Given the description of an element on the screen output the (x, y) to click on. 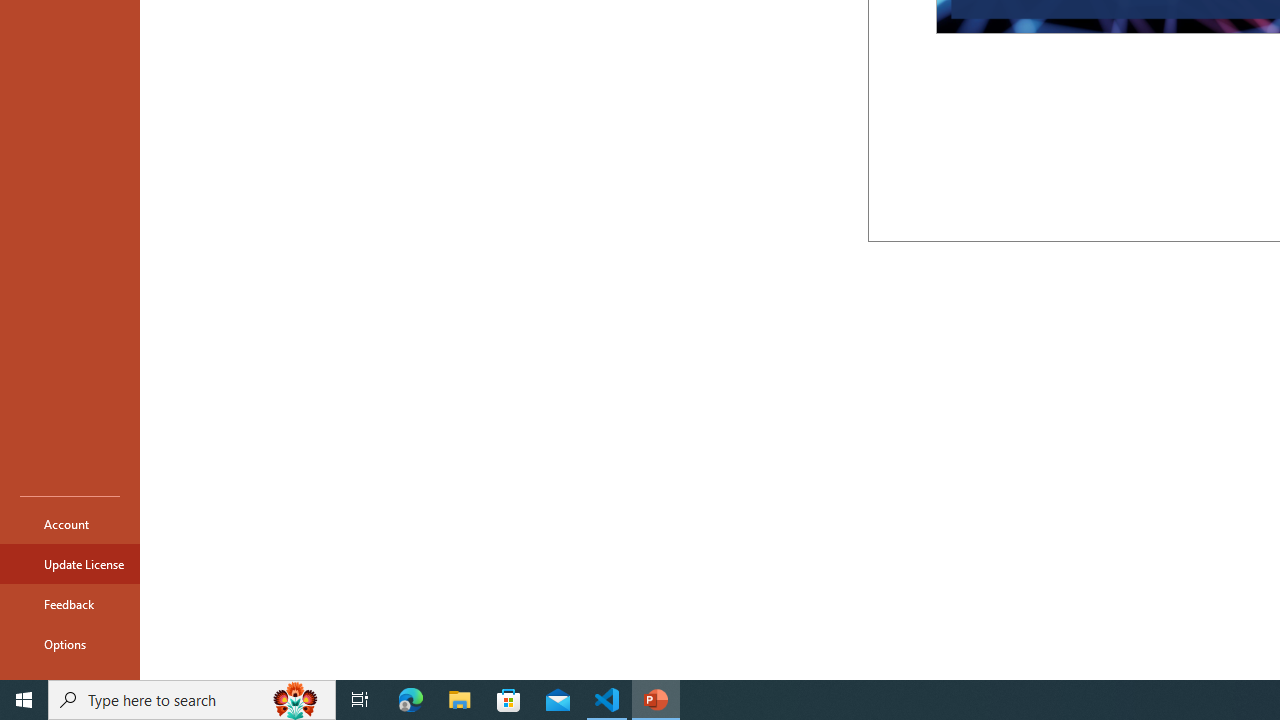
Account (69, 523)
Update License (69, 563)
Options (69, 643)
Feedback (69, 603)
